Given the description of an element on the screen output the (x, y) to click on. 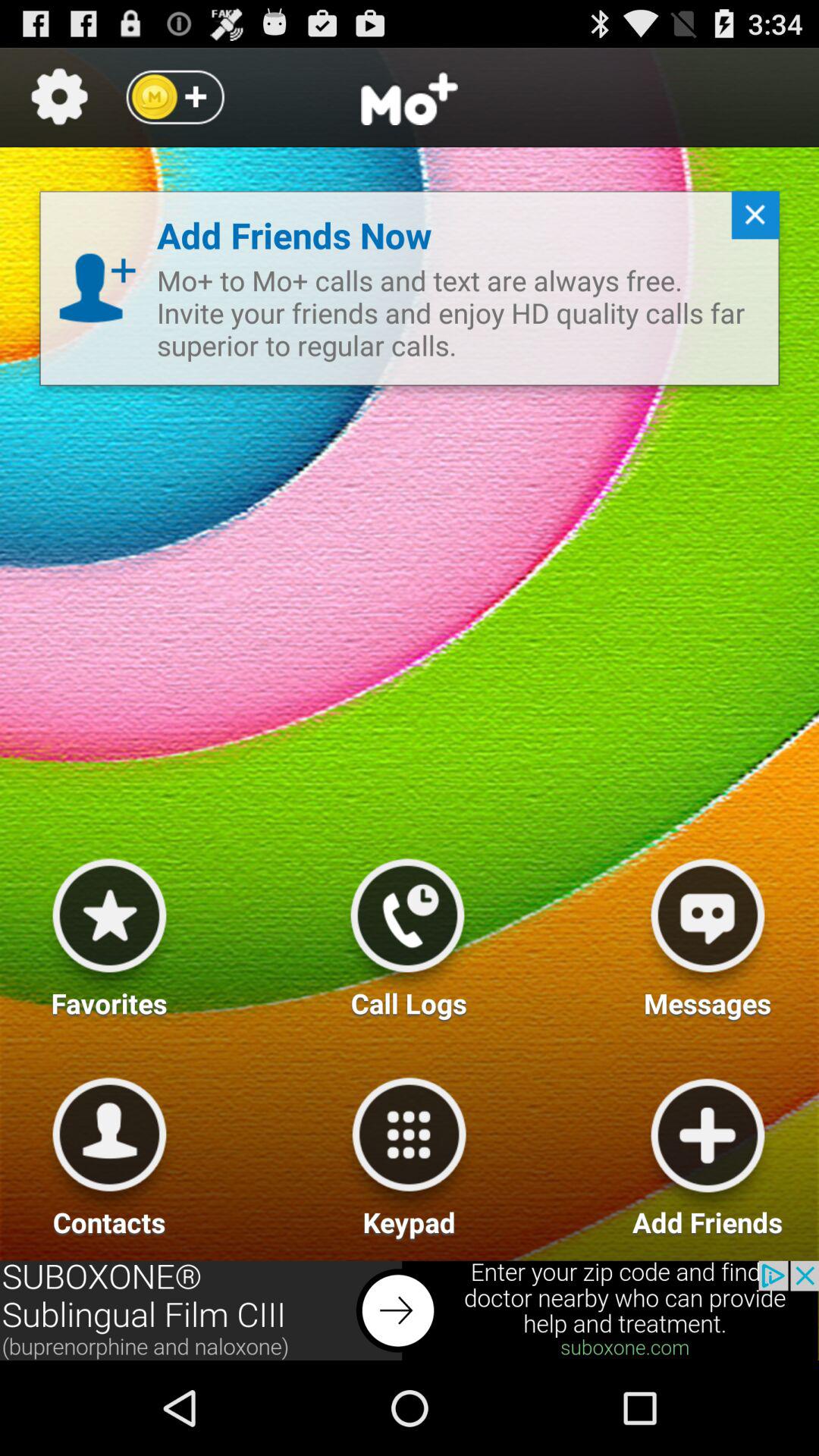
view recent calls (407, 932)
